Given the description of an element on the screen output the (x, y) to click on. 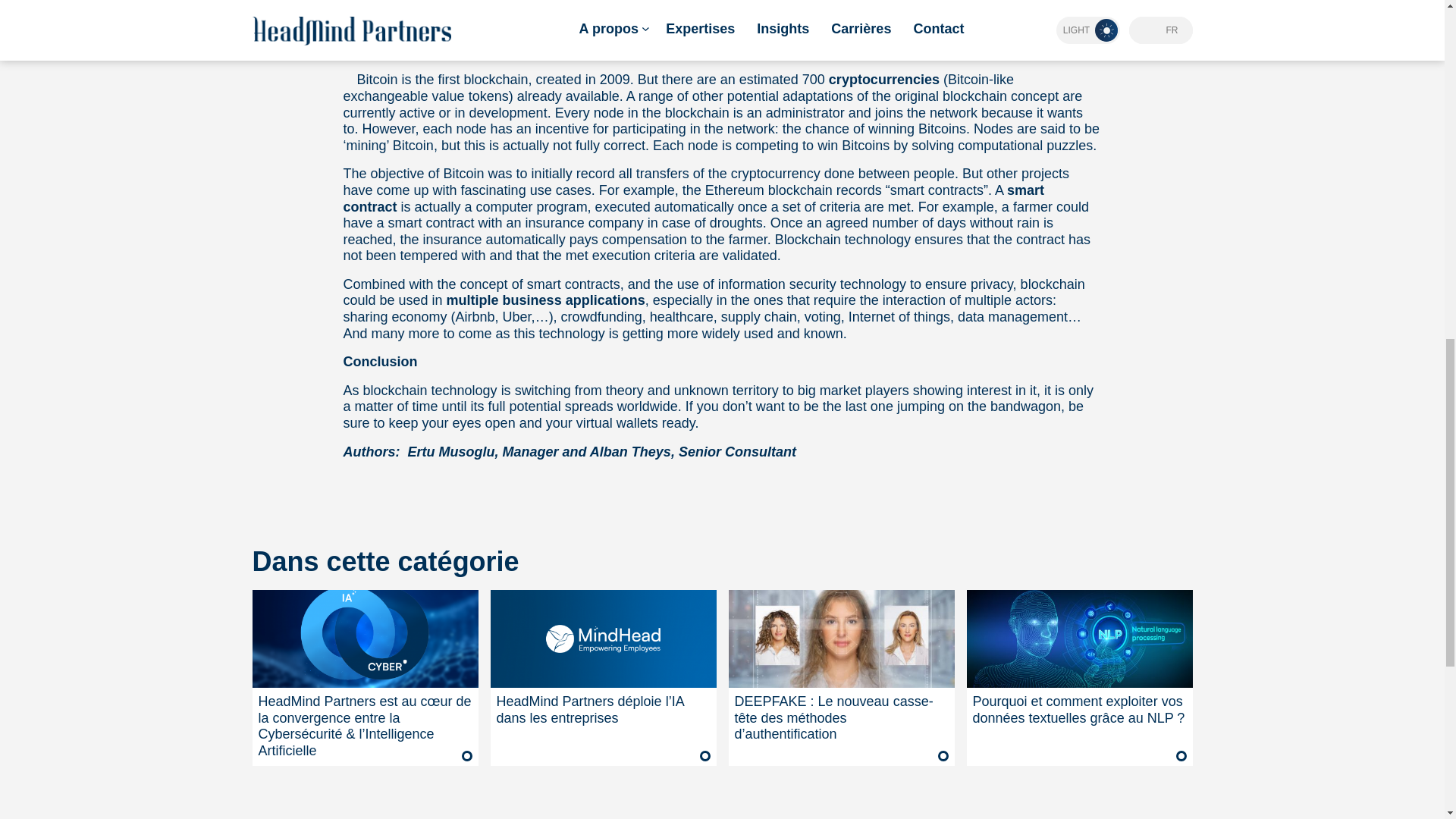
Ertu Musoglu (451, 451)
Alban Theys (630, 451)
